Given the description of an element on the screen output the (x, y) to click on. 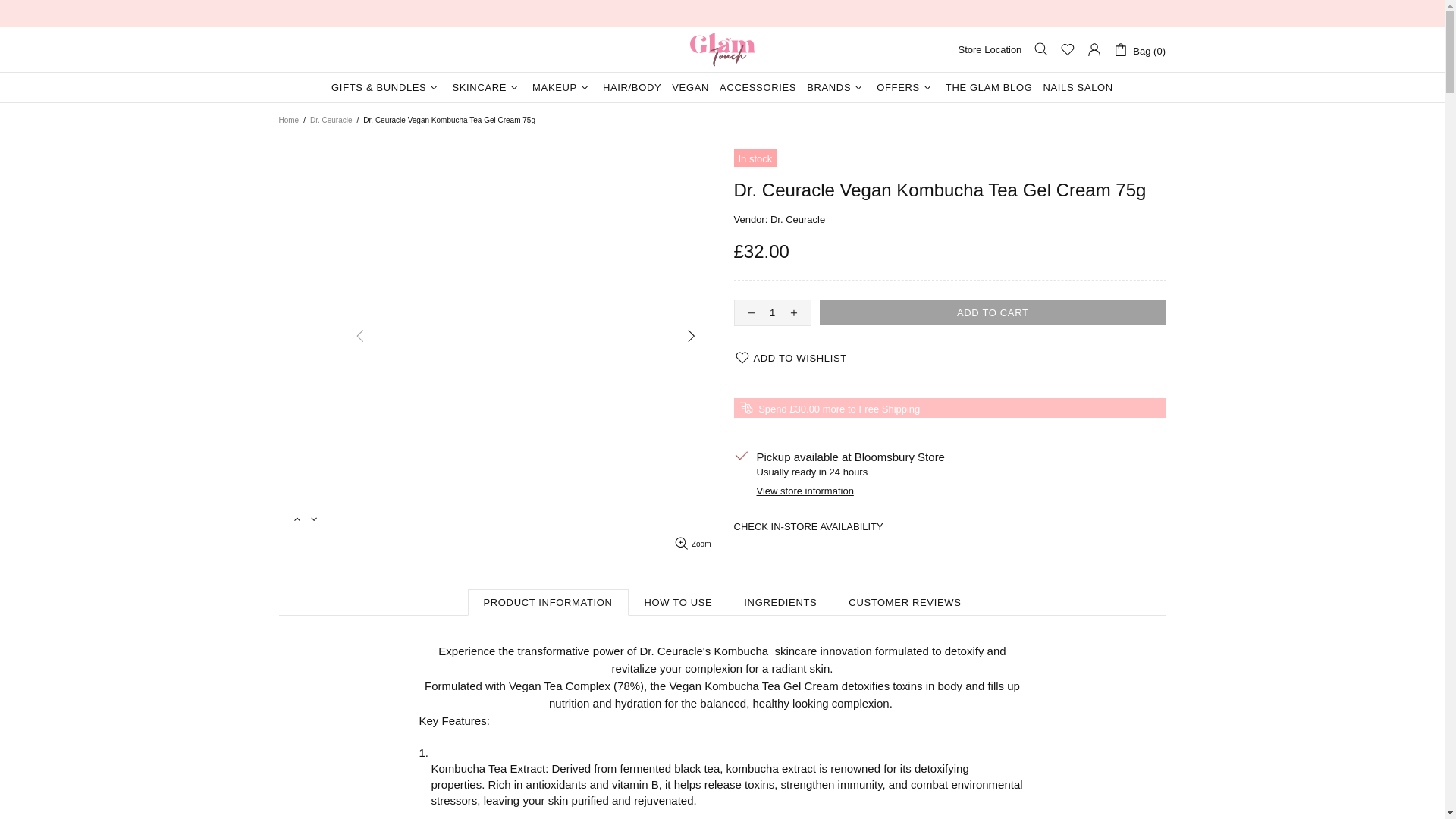
Store Location (990, 49)
SKINCARE (486, 87)
1 (771, 312)
